Given the description of an element on the screen output the (x, y) to click on. 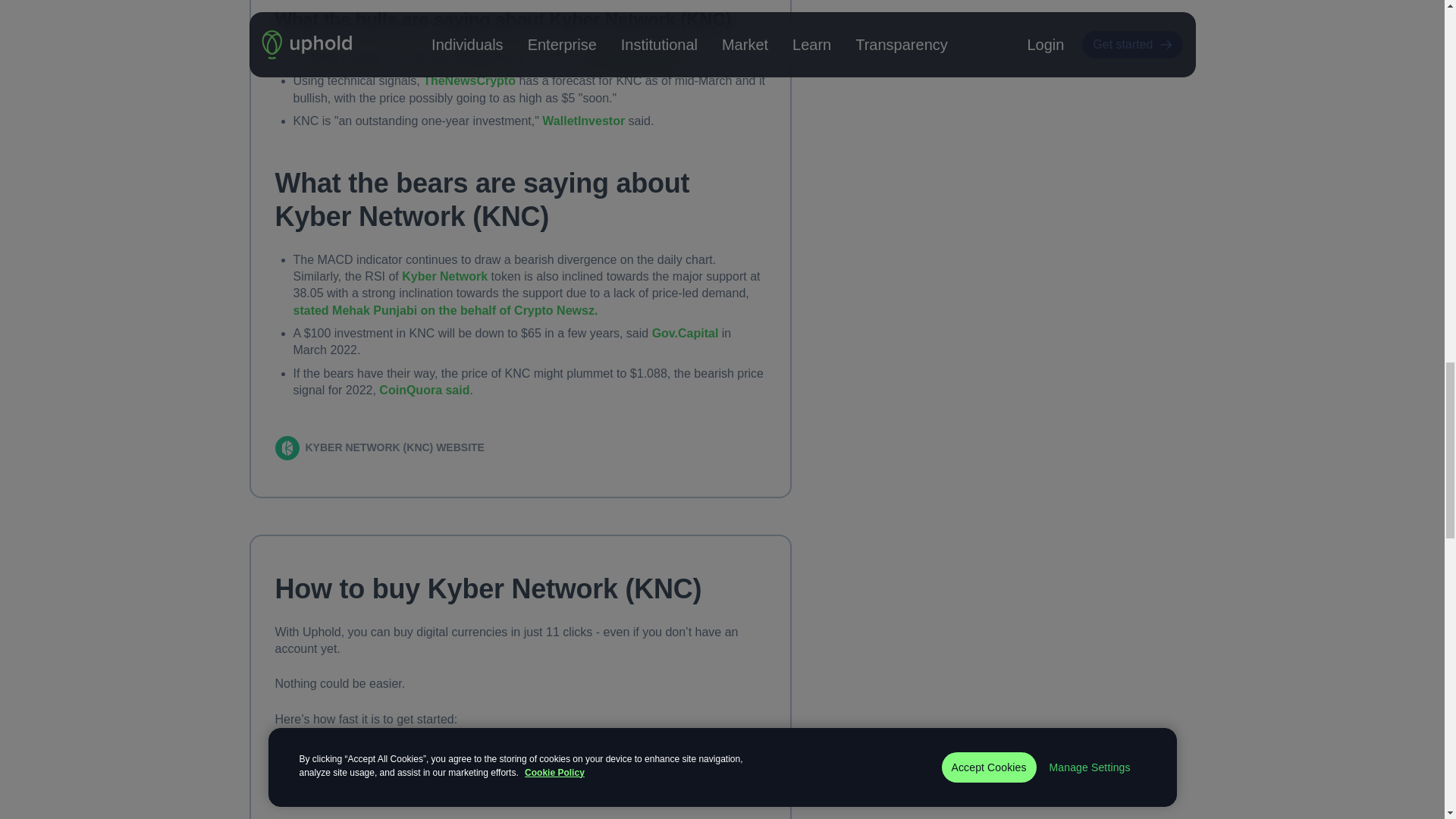
Kyber Network (444, 276)
WalletInvestor (582, 120)
CoinTelegraph (637, 57)
CoinQuora said (423, 390)
TheNewsCrypto (469, 80)
stated Mehak Punjabi on the behalf of Crypto Newsz. (444, 310)
Uphold.com (356, 754)
Gov.Capital (685, 333)
sign up (466, 754)
